Given the description of an element on the screen output the (x, y) to click on. 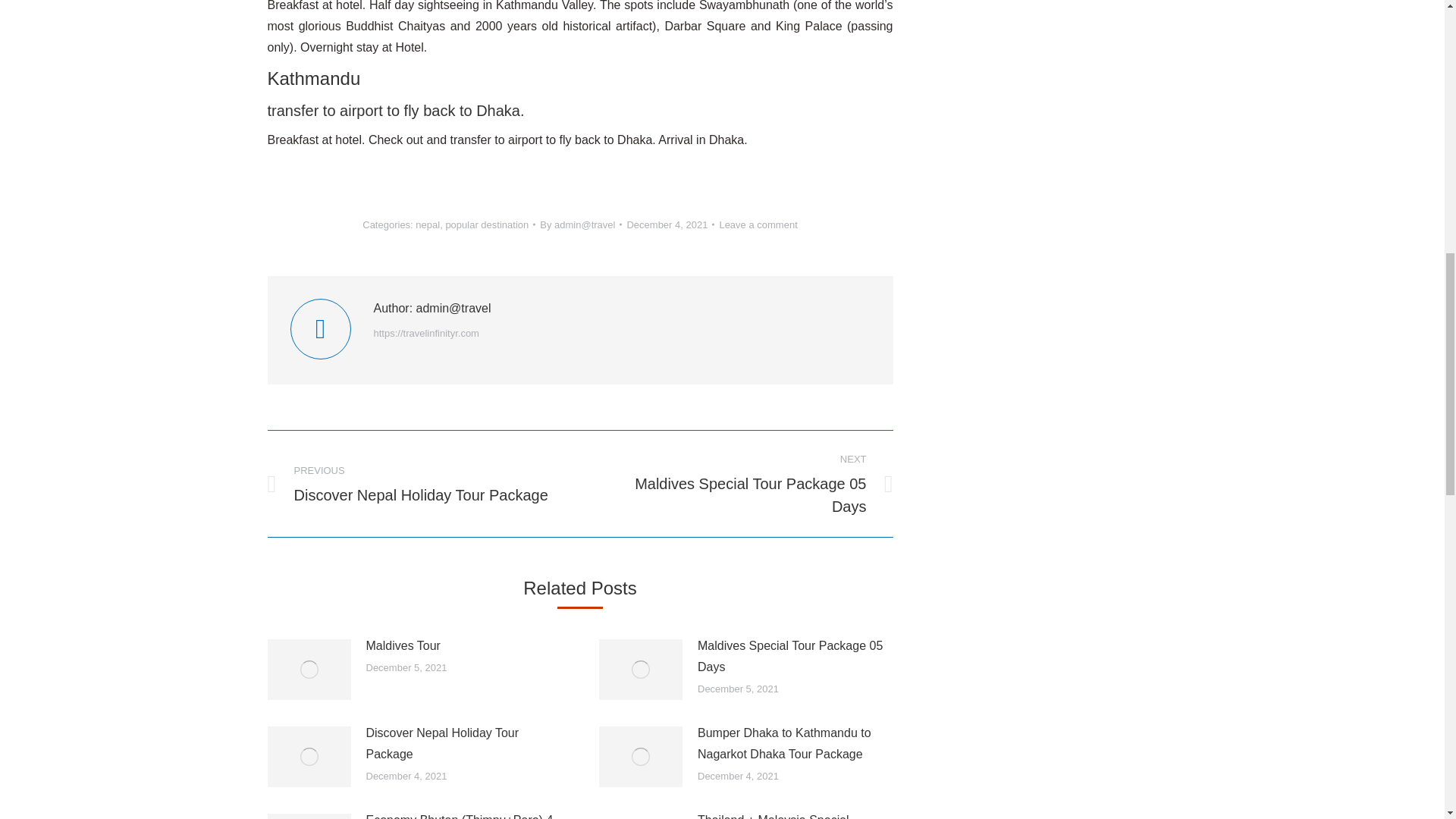
9:12 am (670, 224)
